Given the description of an element on the screen output the (x, y) to click on. 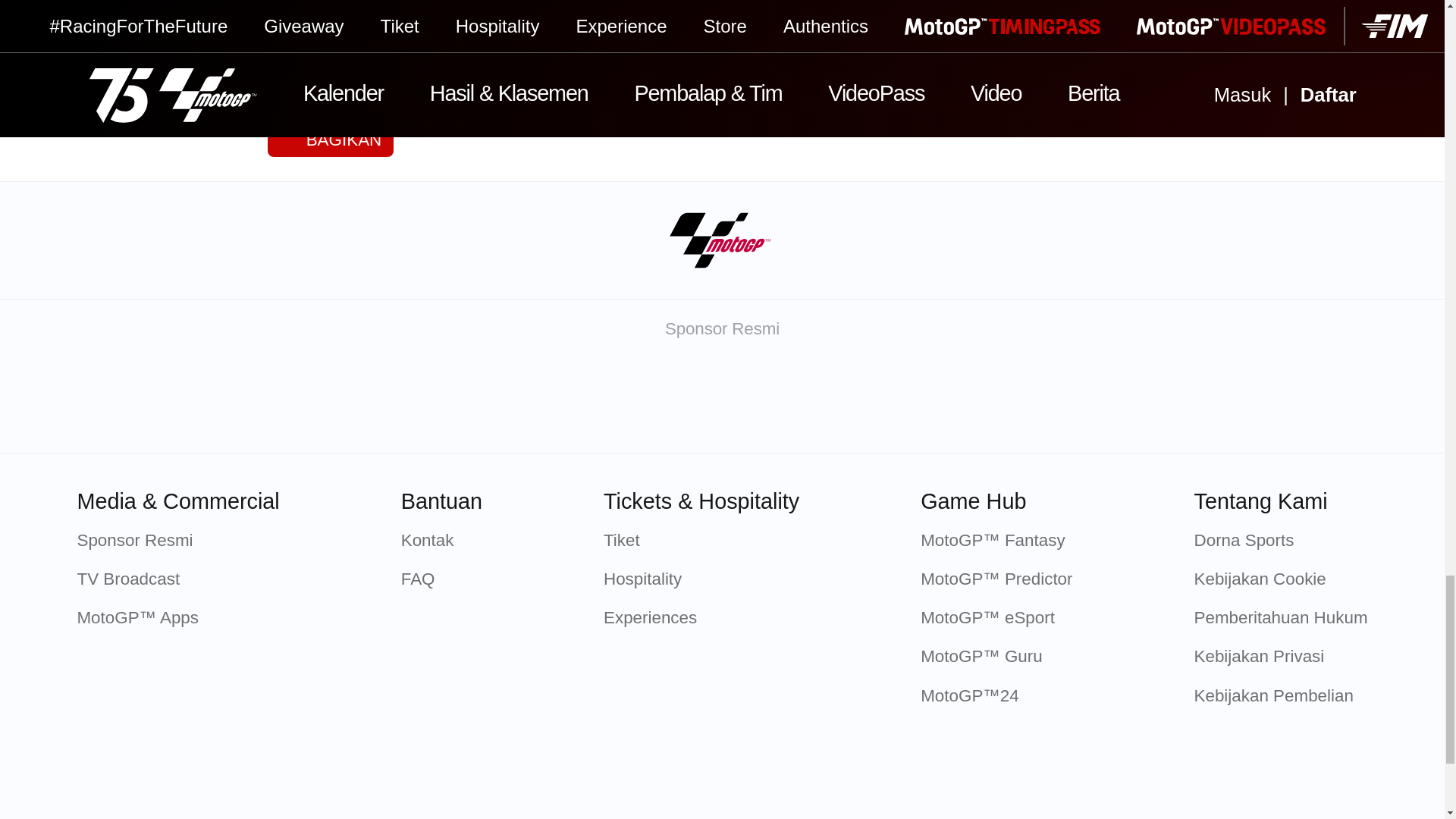
QATAR (321, 400)
DHL (1122, 400)
MICHELIN (642, 400)
ESTRELLA GALICIA (962, 400)
TISSOT (481, 400)
BMW M (802, 400)
